Given the description of an element on the screen output the (x, y) to click on. 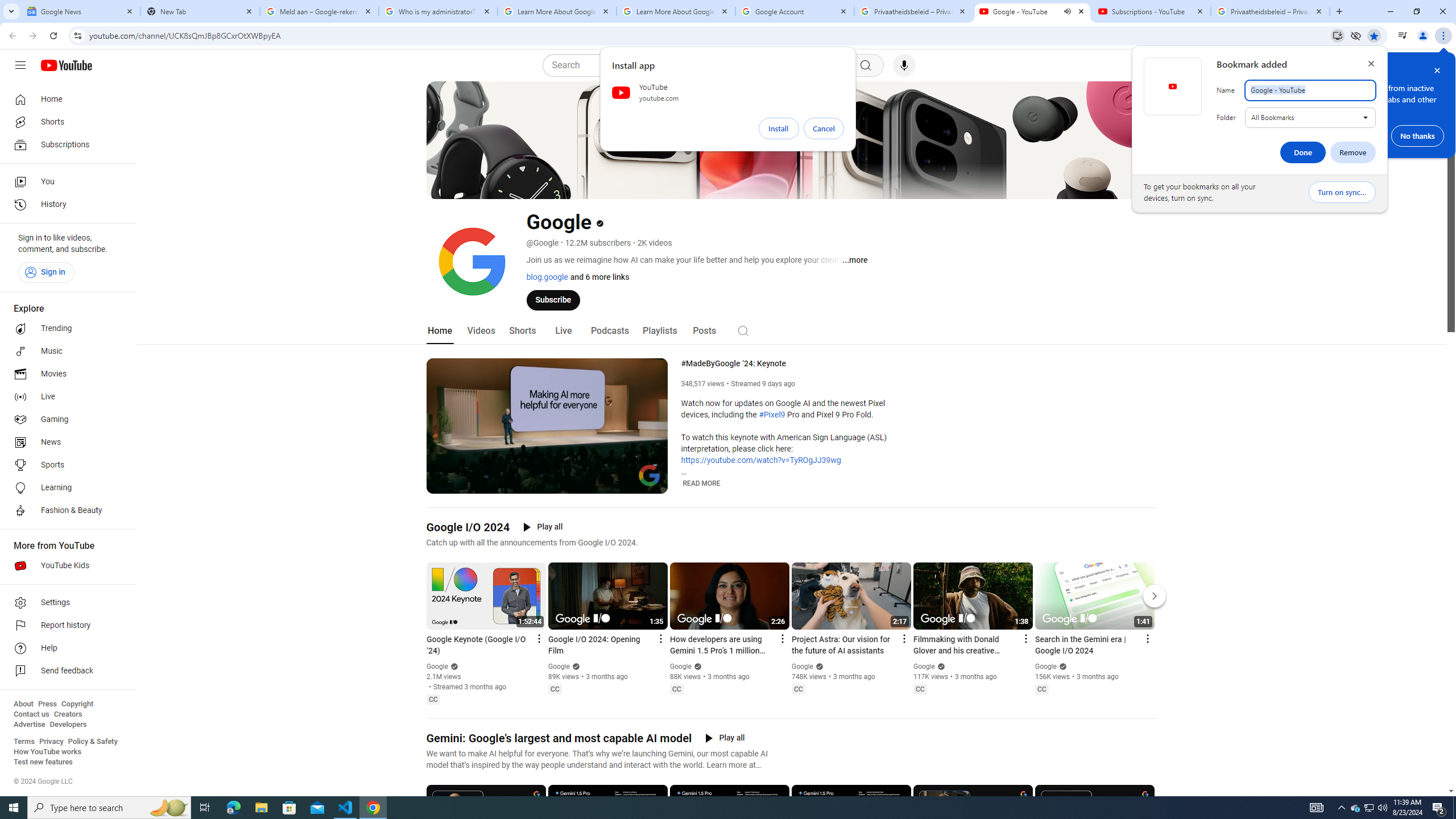
Subscribe (552, 299)
Google News (80, 11)
Start (13, 807)
Test new features (42, 761)
Task View (204, 807)
Report history (64, 625)
Posts (703, 330)
